Given the description of an element on the screen output the (x, y) to click on. 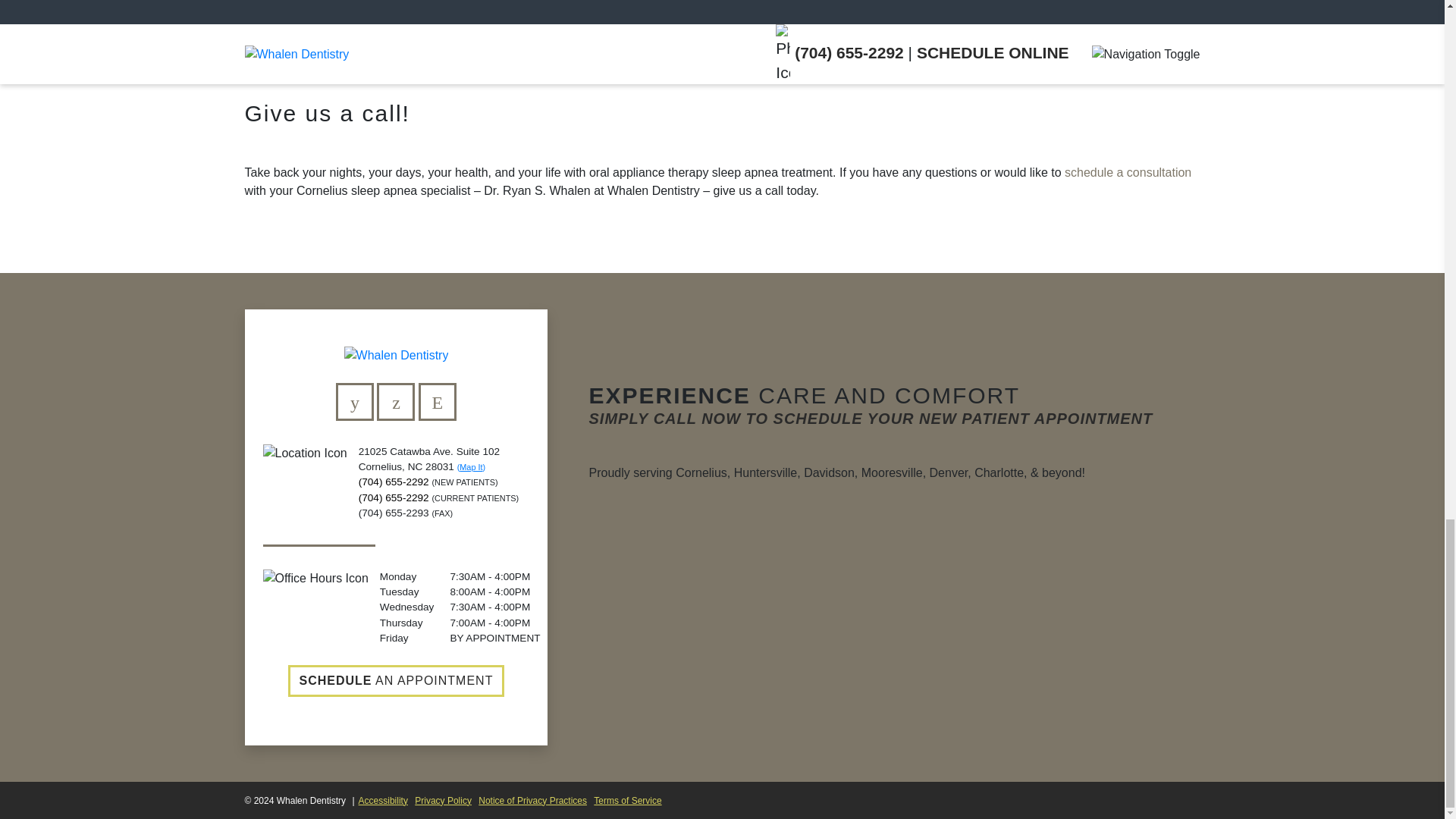
Connect with Whalen Dentistry on Google Maps (395, 401)
Go to the Whalen Dentistry home page (395, 354)
Become a Fan of Whalen Dentistry on Facebook (355, 401)
